Given the description of an element on the screen output the (x, y) to click on. 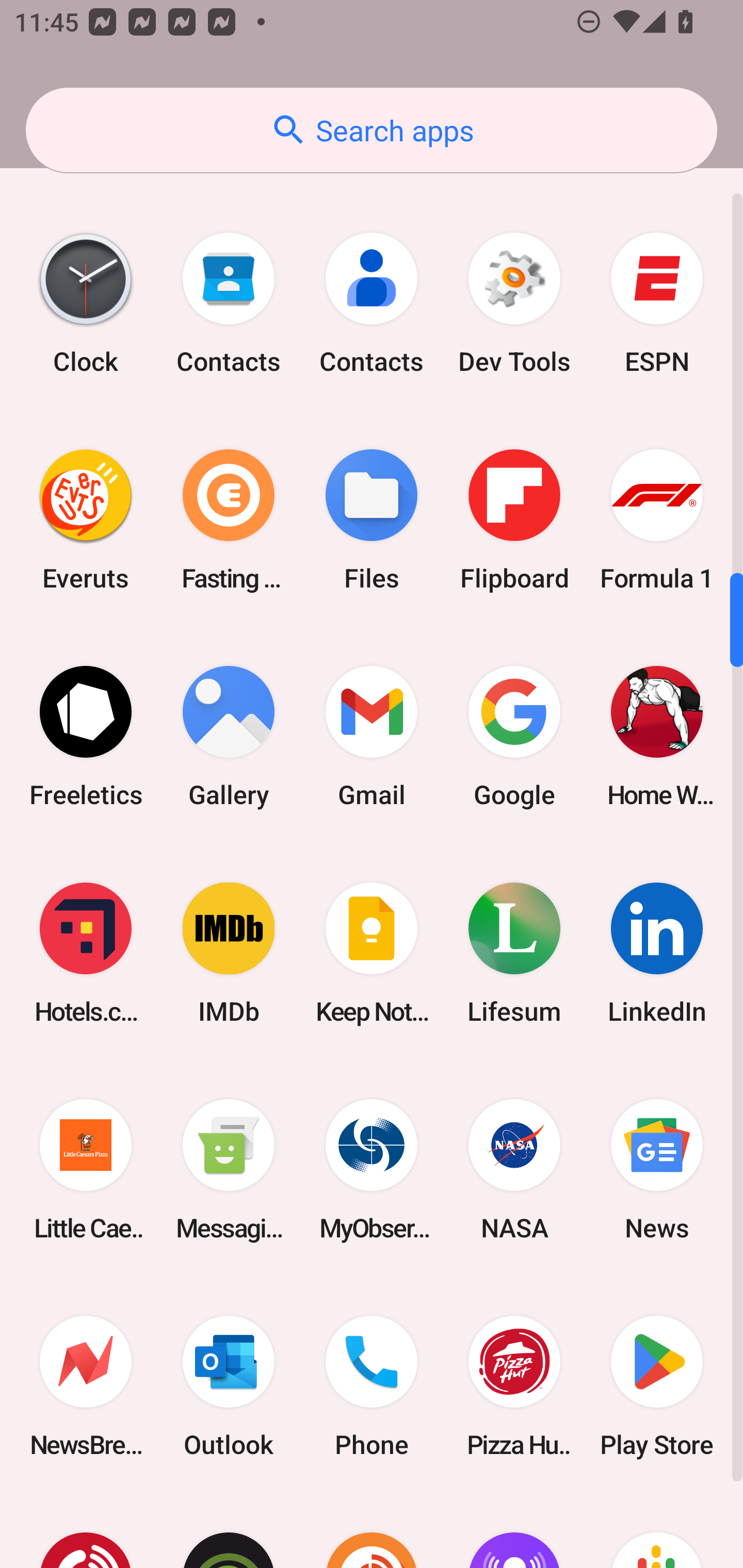
  Search apps (371, 130)
Clock (85, 302)
Contacts (228, 302)
Contacts (371, 302)
Dev Tools (514, 302)
ESPN (656, 302)
Everuts (85, 519)
Fasting Coach (228, 519)
Files (371, 519)
Flipboard (514, 519)
Formula 1 (656, 519)
Freeletics (85, 736)
Gallery (228, 736)
Gmail (371, 736)
Google (514, 736)
Home Workout (656, 736)
Hotels.com (85, 953)
IMDb (228, 953)
Keep Notes (371, 953)
Lifesum (514, 953)
LinkedIn (656, 953)
Little Caesars Pizza (85, 1169)
Messaging (228, 1169)
MyObservatory (371, 1169)
NASA (514, 1169)
News (656, 1169)
NewsBreak (85, 1385)
Outlook (228, 1385)
Phone (371, 1385)
Pizza Hut HK & Macau (514, 1385)
Play Store (656, 1385)
